Given the description of an element on the screen output the (x, y) to click on. 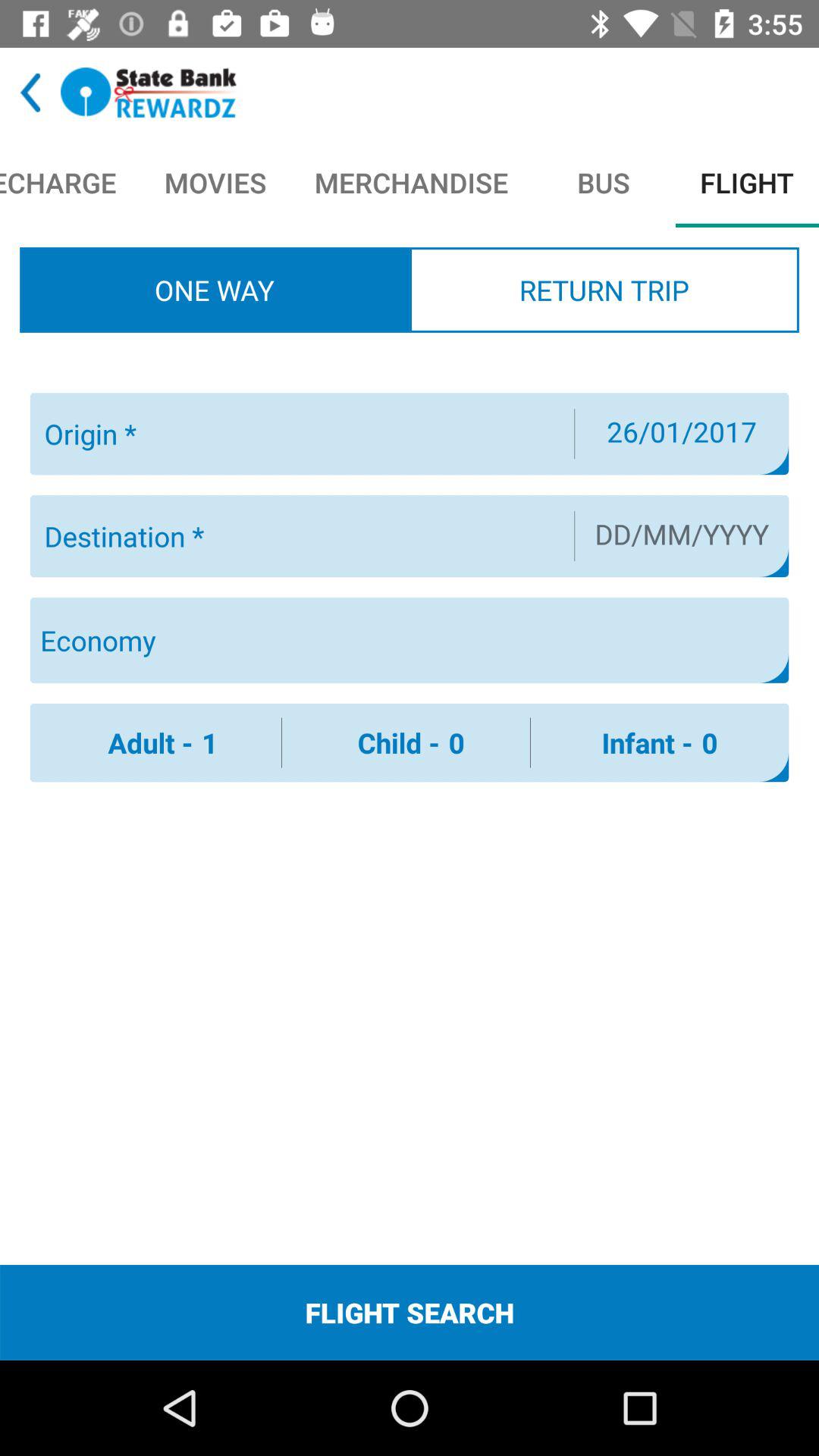
enter destination city/airport (300, 536)
